Given the description of an element on the screen output the (x, y) to click on. 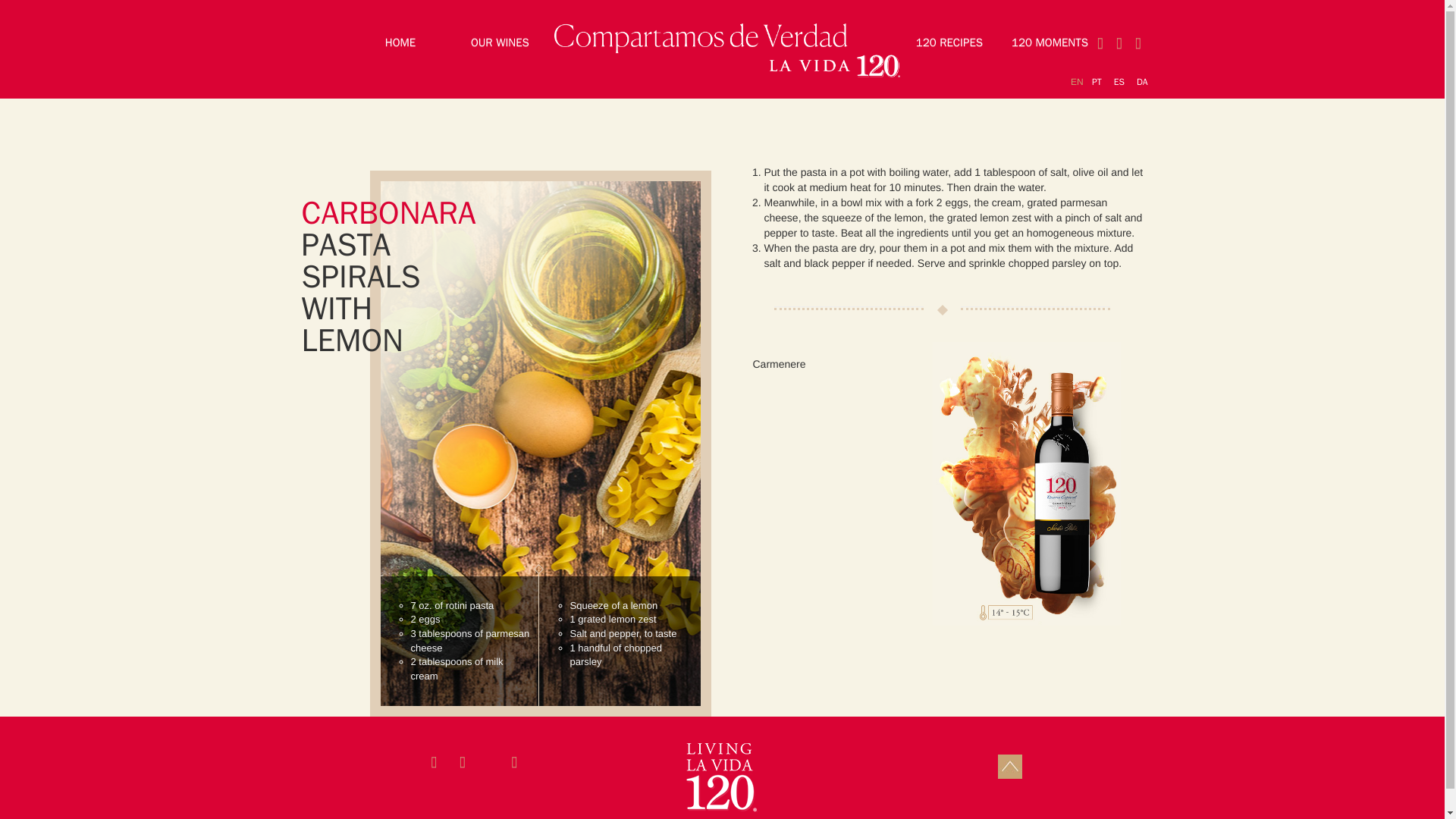
subir (1010, 766)
120 moments (1049, 43)
OUR WINES (499, 43)
YOUTUBE (1100, 43)
HOME (400, 43)
Youtube (1100, 43)
logo (721, 777)
Facebook (1138, 43)
120 RECIPES (948, 43)
120 MOMENTS (1049, 43)
FACEBOOK (1138, 43)
ES (1119, 82)
Our Wines (499, 43)
120 recipes (948, 43)
Instagram (1119, 43)
